Given the description of an element on the screen output the (x, y) to click on. 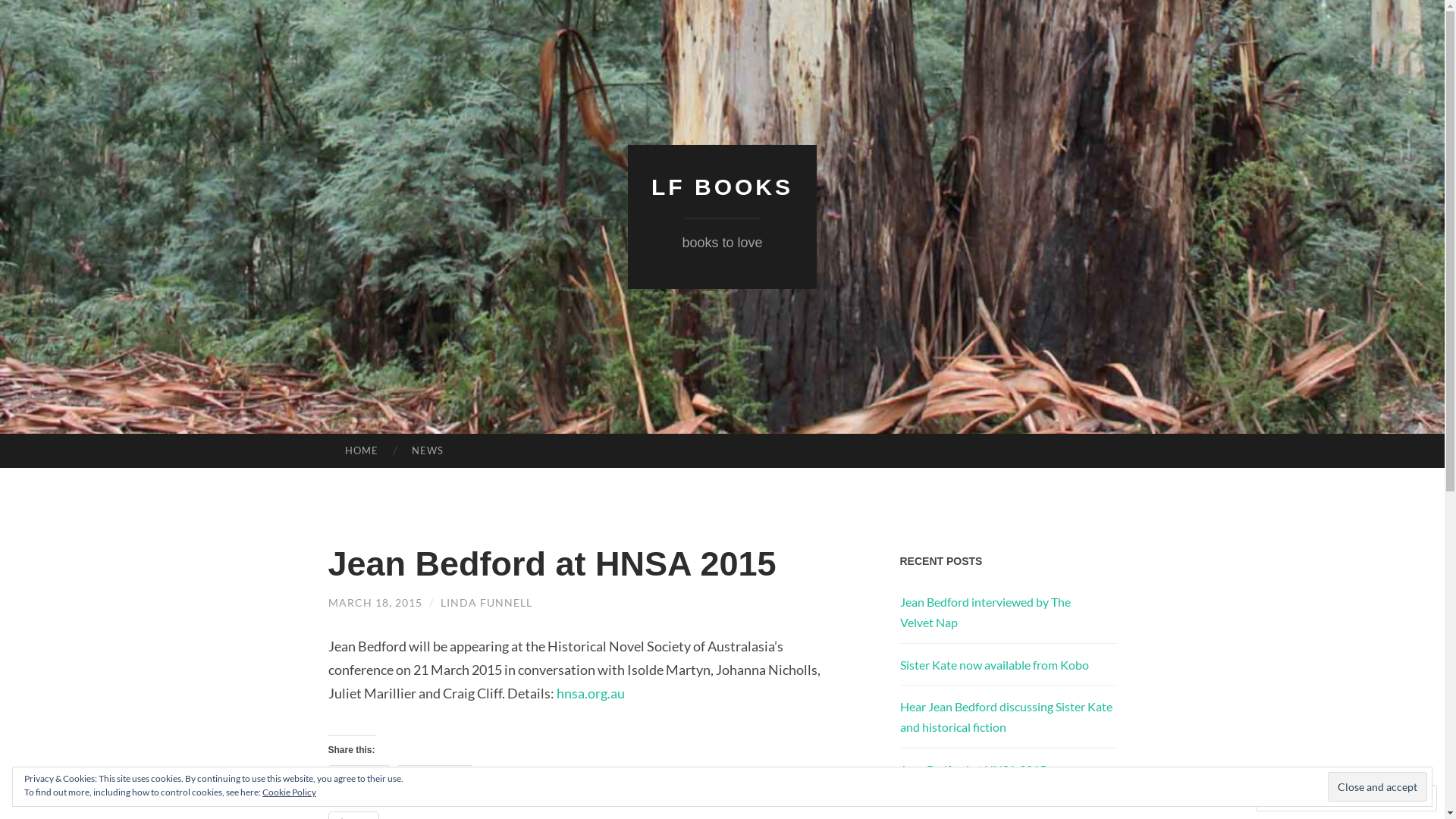
Follow Element type: text (1372, 797)
Jean Bedford interviewed by The Velvet Nap Element type: text (984, 611)
HOME Element type: text (360, 450)
Cookie Policy Element type: text (289, 791)
Jean Bedford at HNSA 2015 Element type: text (972, 769)
MARCH 18, 2015 Element type: text (374, 602)
LINDA FUNNELL Element type: text (485, 602)
Twitter Element type: text (358, 776)
LF BOOKS Element type: text (722, 186)
Close and accept Element type: text (1377, 786)
Sister Kate now available from Kobo Element type: text (993, 664)
hnsa.org.au Element type: text (590, 692)
Facebook Element type: text (434, 776)
NEWS Element type: text (427, 450)
Comment Element type: text (1297, 797)
